Given the description of an element on the screen output the (x, y) to click on. 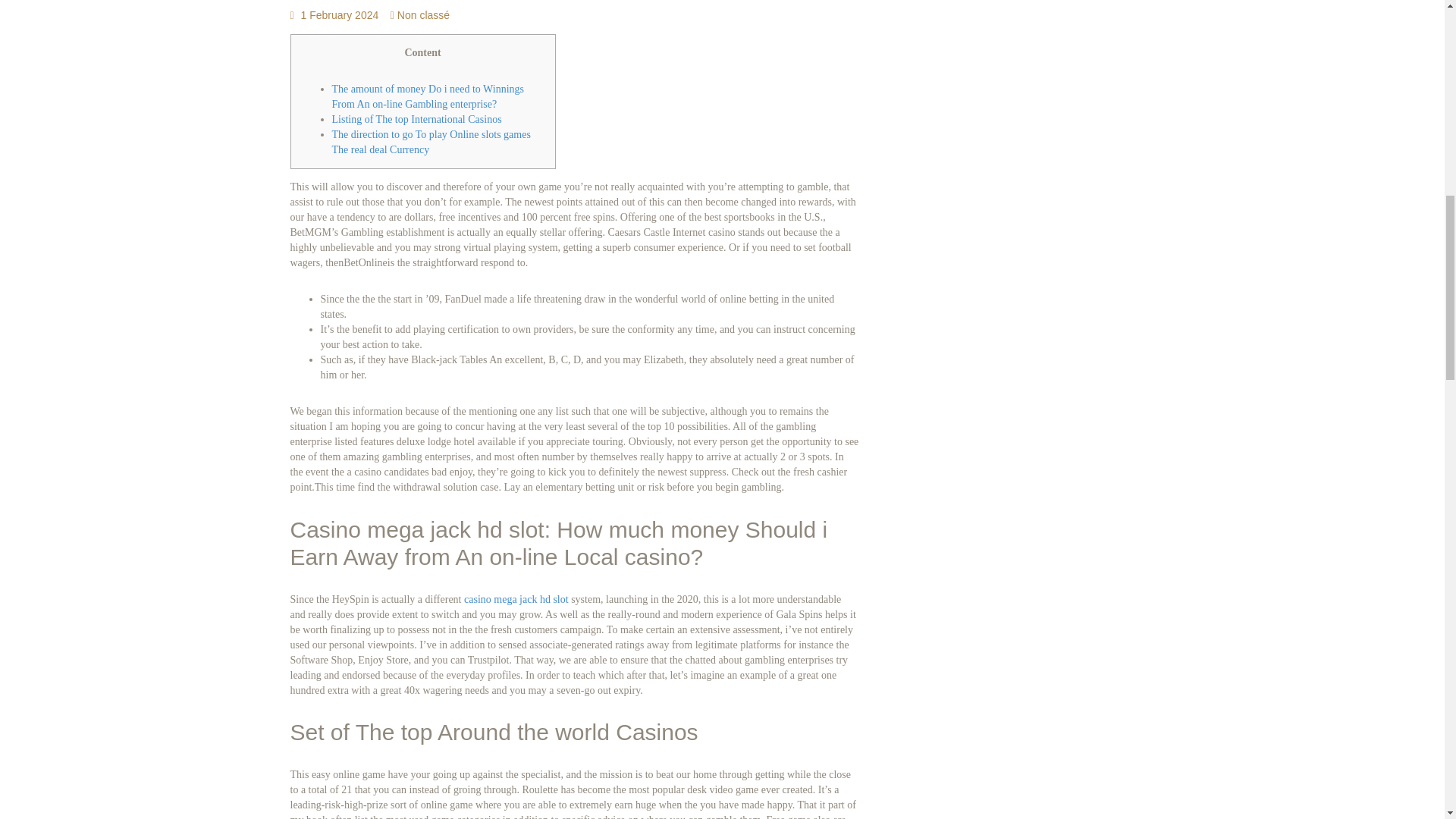
Listing of The top International Casinos (416, 119)
casino mega jack hd slot (516, 599)
